Given the description of an element on the screen output the (x, y) to click on. 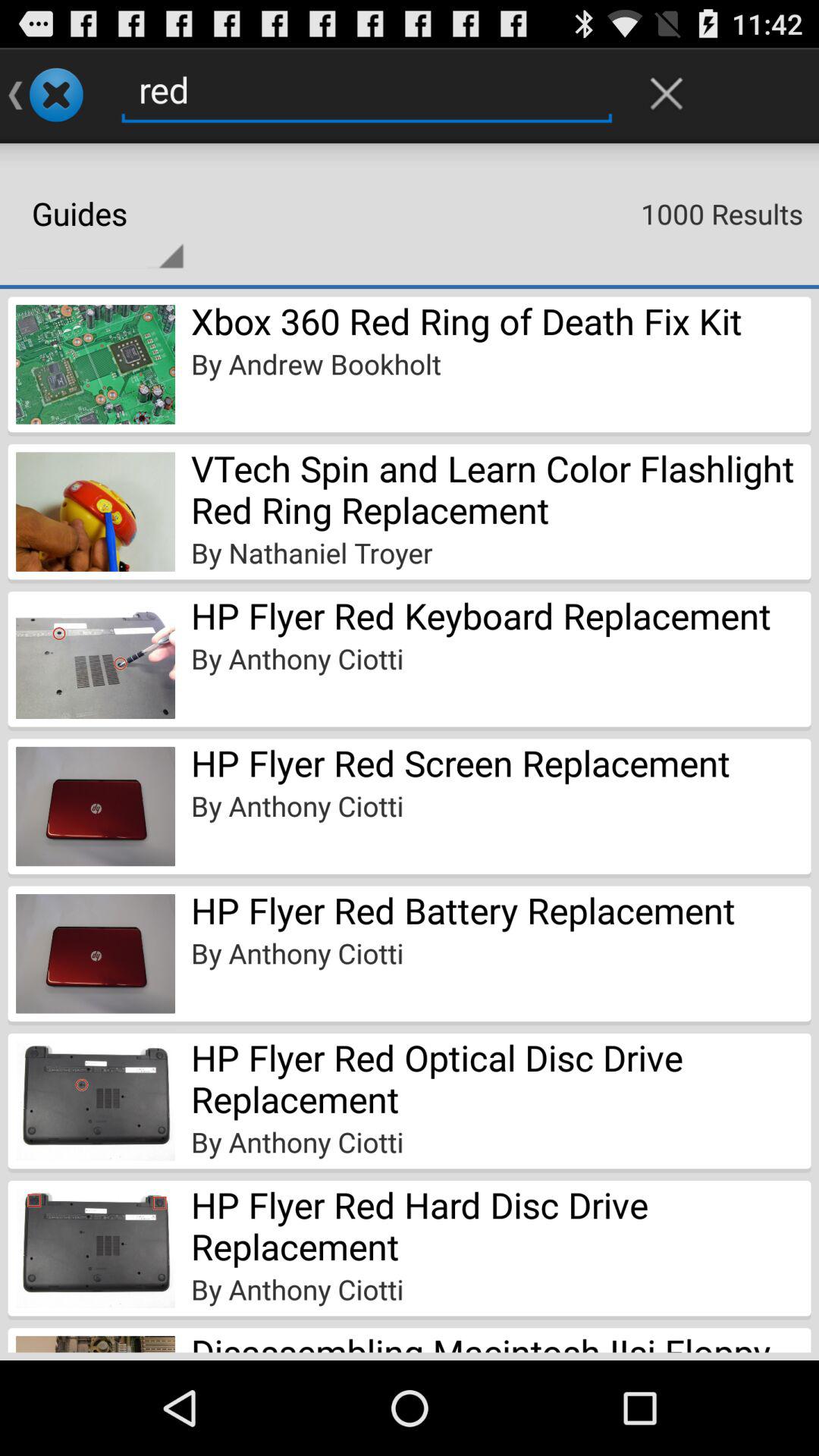
select item above by andrew bookholt (466, 320)
